Given the description of an element on the screen output the (x, y) to click on. 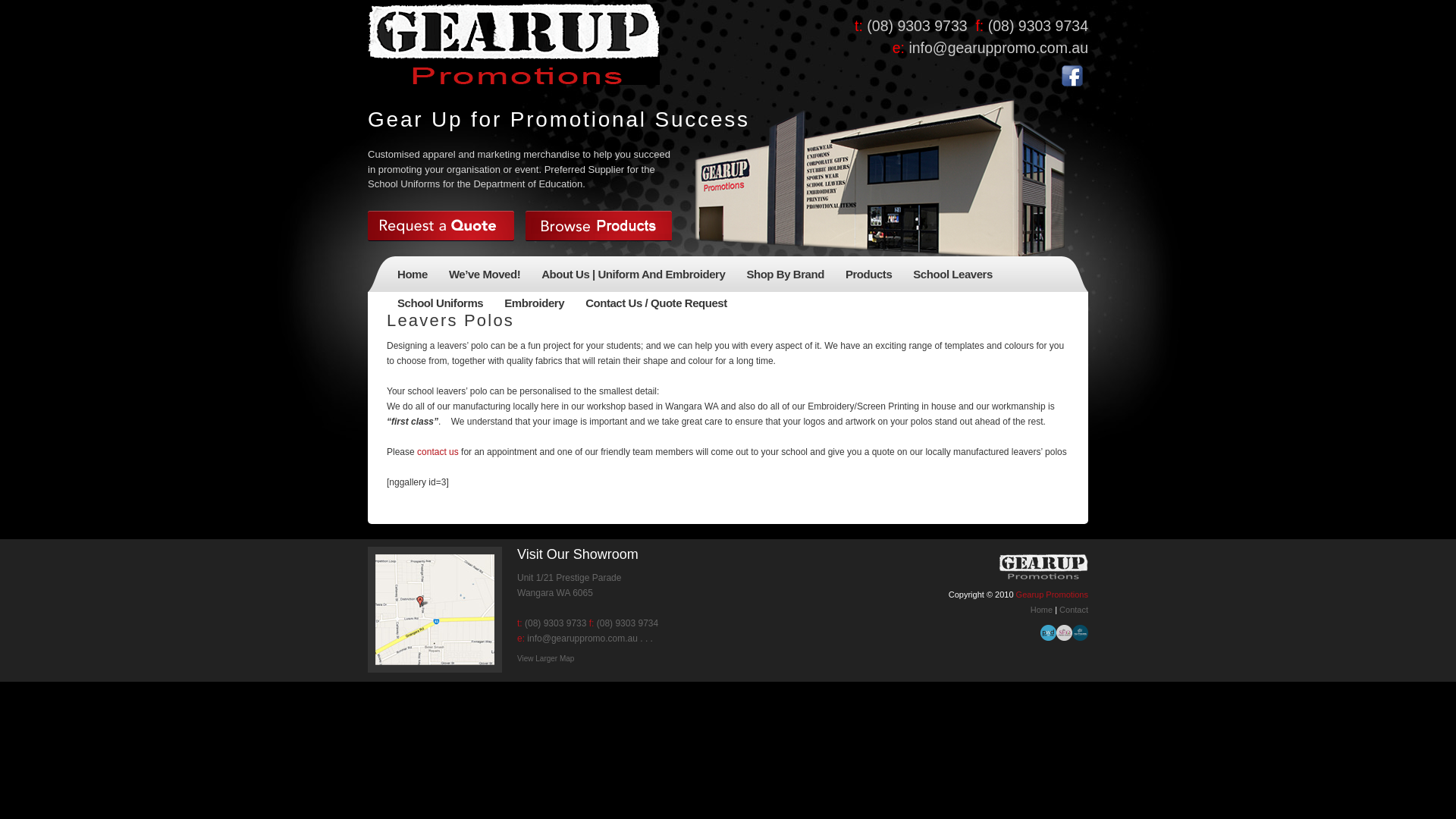
View Larger Map Element type: text (545, 662)
Browse our catalogue Element type: text (598, 225)
Home Element type: text (412, 276)
About Us | Uniform And Embroidery Element type: text (632, 276)
Contact Element type: text (1073, 609)
(08) 9303 9734 Element type: text (1035, 25)
Home Element type: text (1042, 609)
Wangara WA 6065 Element type: text (555, 592)
Products Element type: text (868, 276)
School Uniforms Element type: text (439, 305)
Shop By Brand Element type: text (785, 276)
info@gearuppromo.com.au . . . Element type: text (589, 638)
info@gearuppromo.com.au Element type: text (998, 47)
(08) 9303 9734 Element type: text (625, 623)
Embroidery Element type: text (534, 305)
(08) 9303 9733 Element type: text (555, 623)
contact us Element type: text (437, 451)
Contact Us / Quote Request Element type: text (656, 305)
School Leavers Element type: text (952, 276)
Unit 1/21 Prestige Parade Element type: text (569, 577)
Gear Up Promo Element type: text (513, 43)
(08) 9303 9733  Element type: text (916, 25)
Request a quote Element type: text (440, 225)
